Given the description of an element on the screen output the (x, y) to click on. 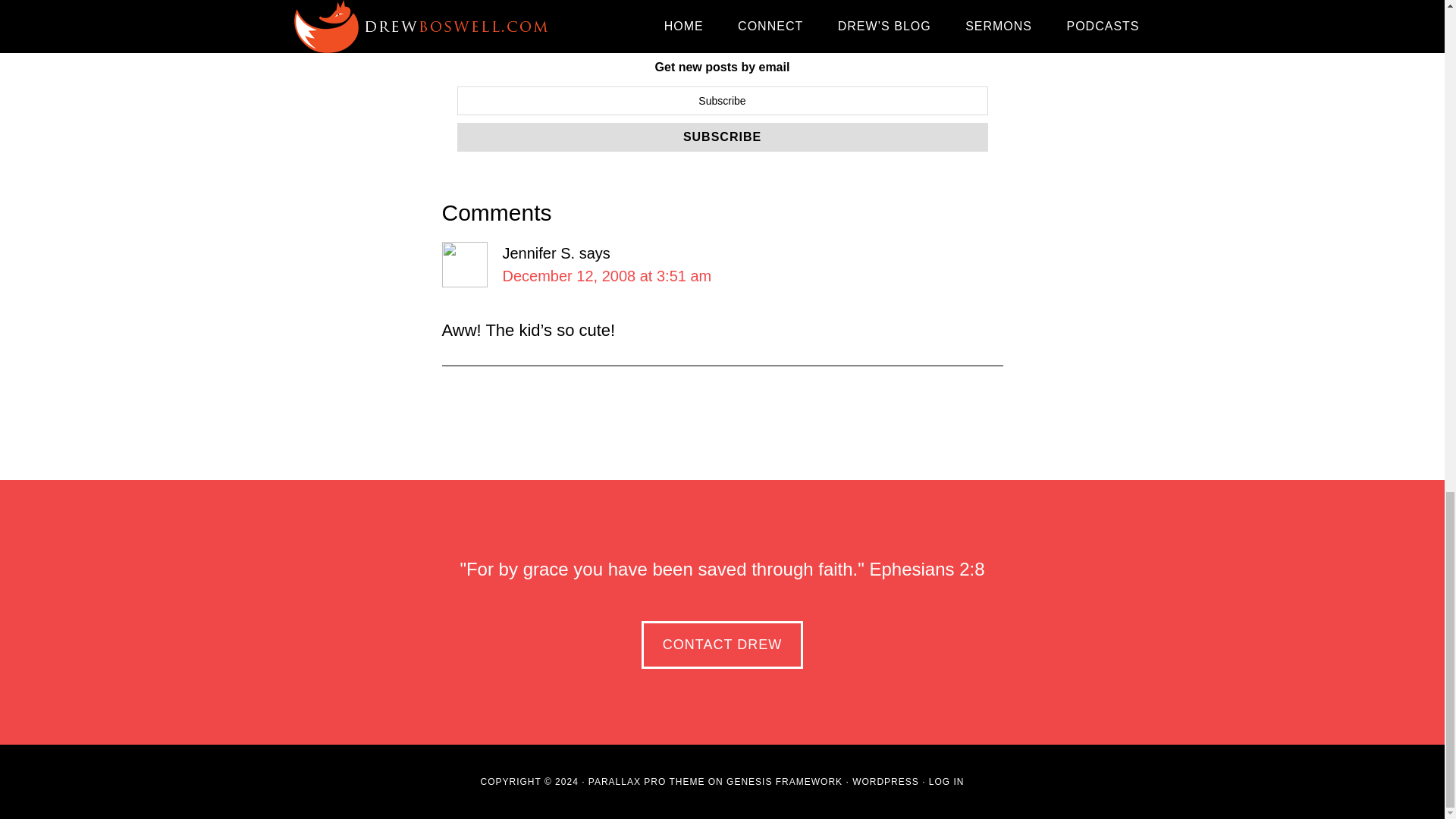
LOG IN (945, 781)
CONTACT DREW (722, 644)
Subscribe (722, 136)
GENESIS FRAMEWORK (784, 781)
December 12, 2008 at 3:51 am (606, 275)
Subscribe (722, 136)
WORDPRESS (884, 781)
PARALLAX PRO THEME (646, 781)
